Given the description of an element on the screen output the (x, y) to click on. 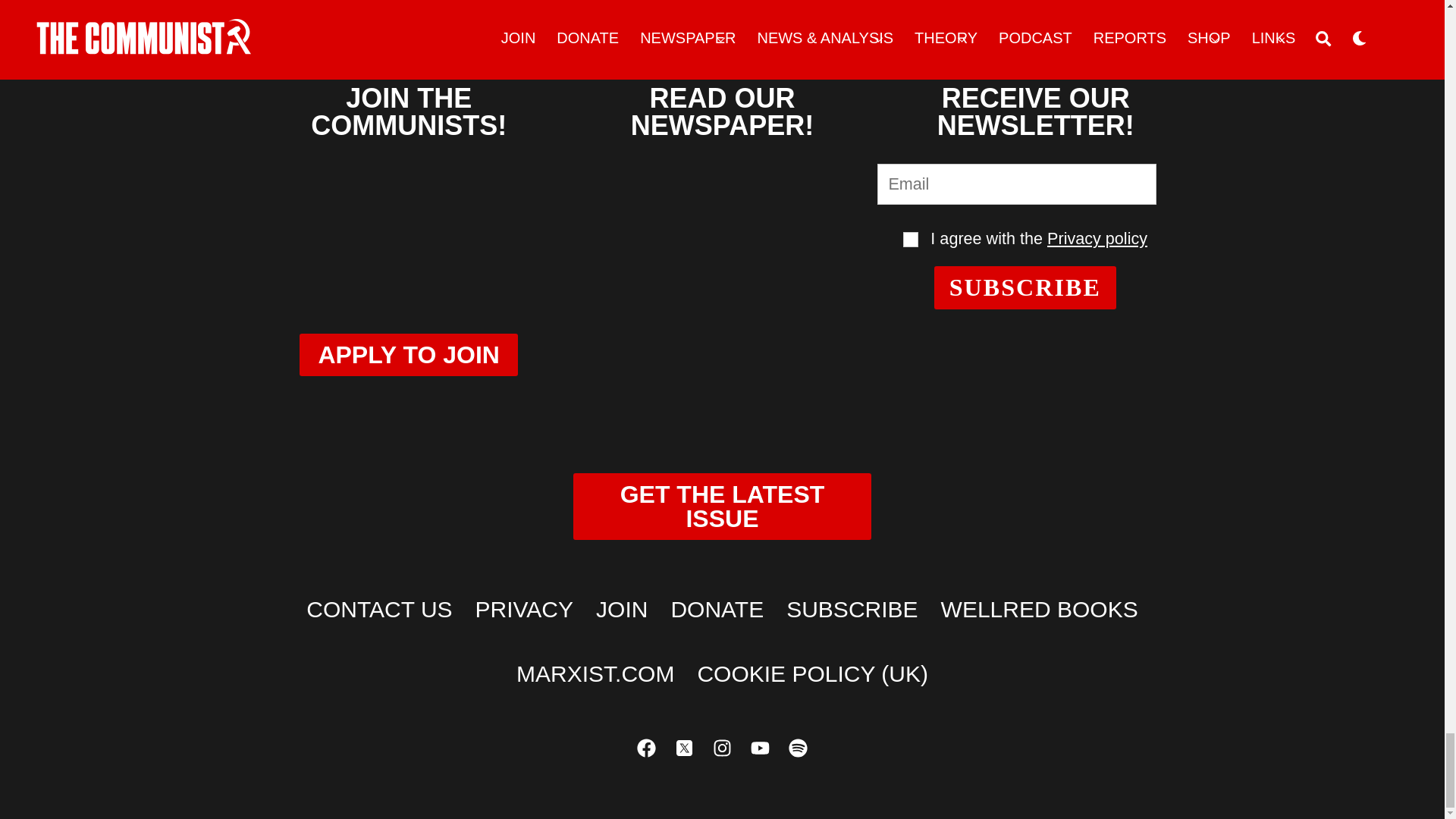
Privacy policy (1096, 238)
on (910, 239)
Terms and conditions (910, 239)
